Given the description of an element on the screen output the (x, y) to click on. 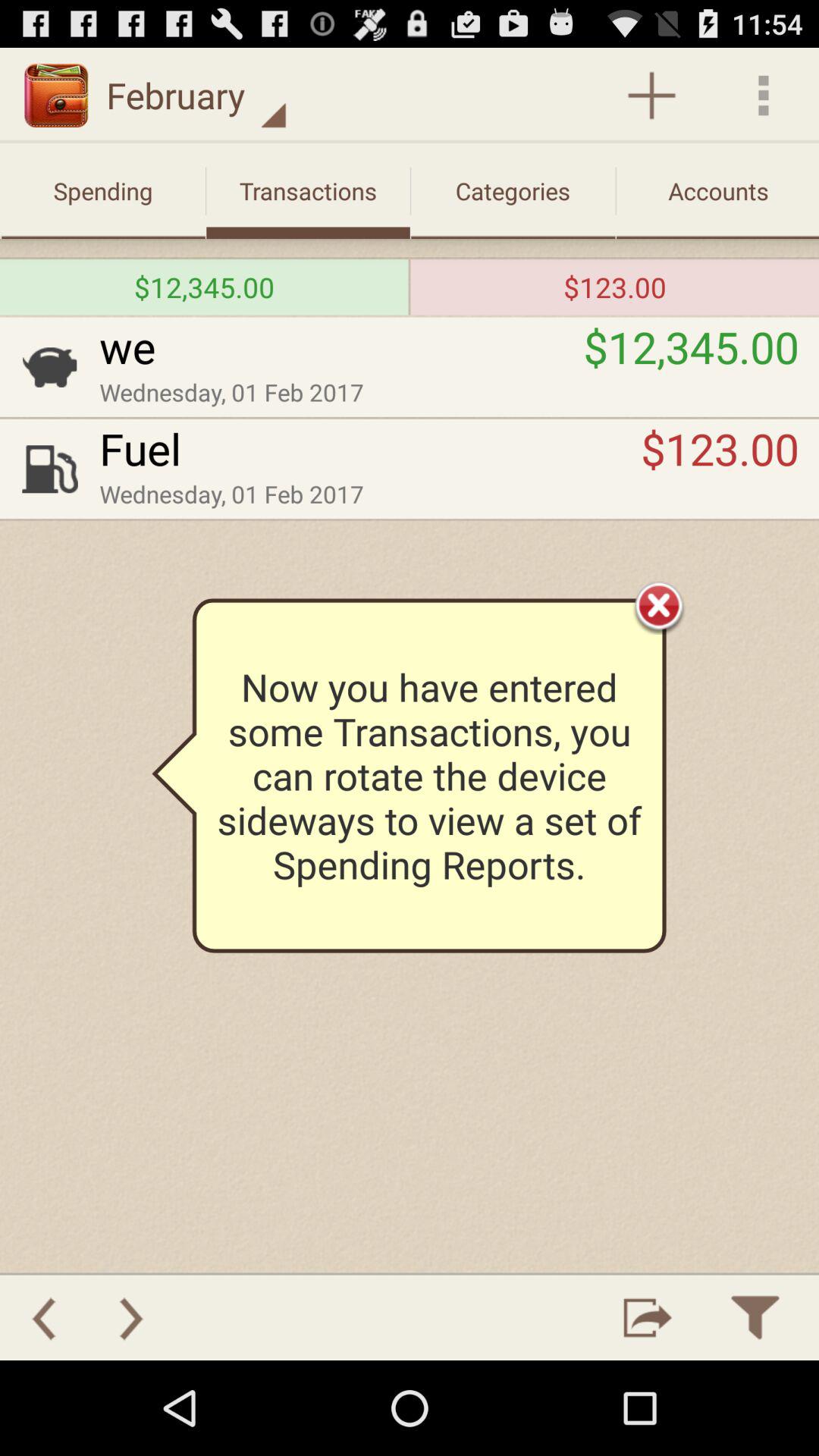
to rotate sideways (647, 1317)
